Given the description of an element on the screen output the (x, y) to click on. 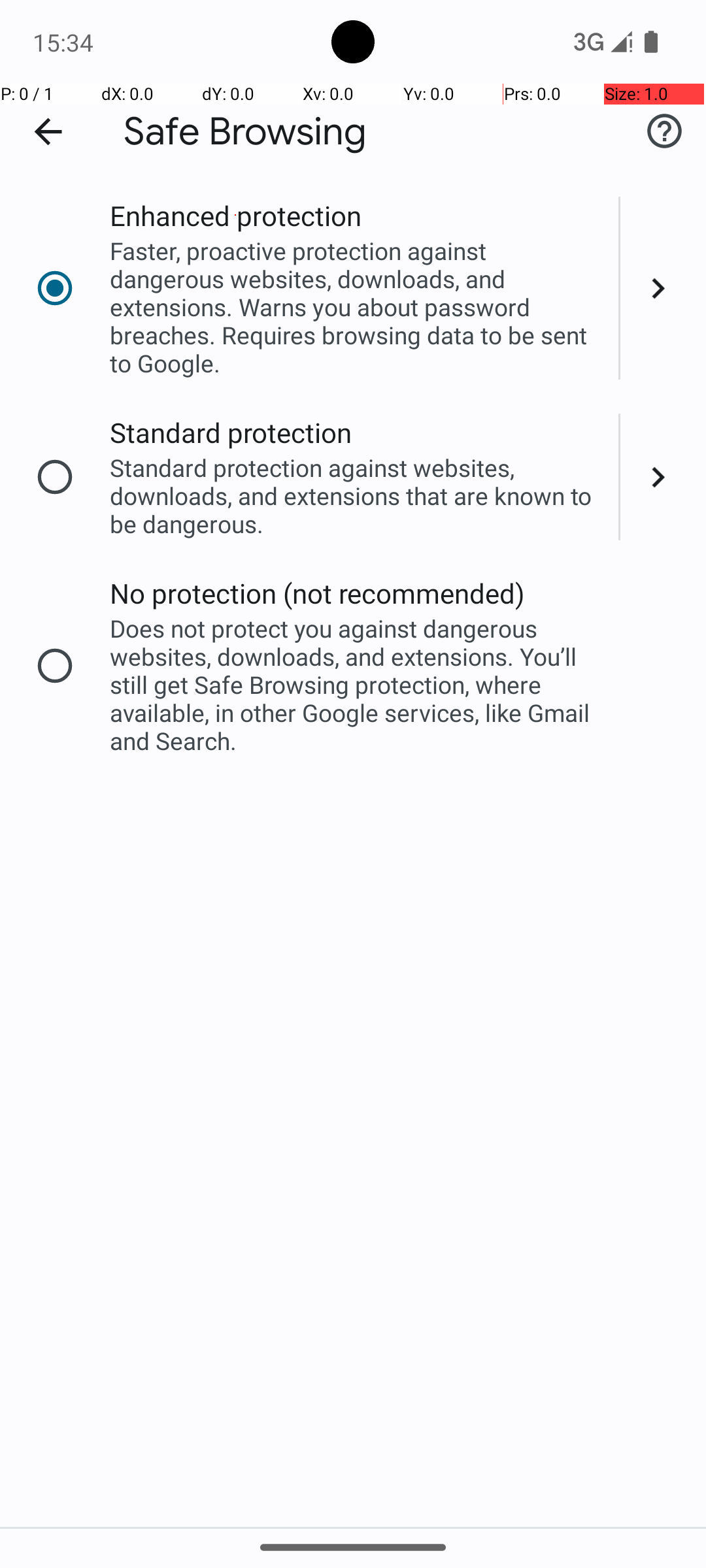
Safe Browsing Element type: android.widget.TextView (244, 131)
Help & feedback Element type: android.widget.Button (664, 131)
Enhanced protection Element type: android.widget.TextView (235, 214)
Faster, proactive protection against dangerous websites, downloads, and extensions. Warns you about password breaches. Requires browsing data to be sent to Google. Element type: android.widget.TextView (355, 306)
Expand Element type: android.widget.ImageButton (663, 287)
Standard protection Element type: android.widget.TextView (230, 431)
Standard protection against websites, downloads, and extensions that are known to be dangerous. Element type: android.widget.TextView (355, 495)
No protection (not recommended) Element type: android.widget.TextView (317, 592)
Does not protect you against dangerous websites, downloads, and extensions. You’ll still get Safe Browsing protection, where available, in other Google services, like Gmail and Search. Element type: android.widget.TextView (355, 684)
